Given the description of an element on the screen output the (x, y) to click on. 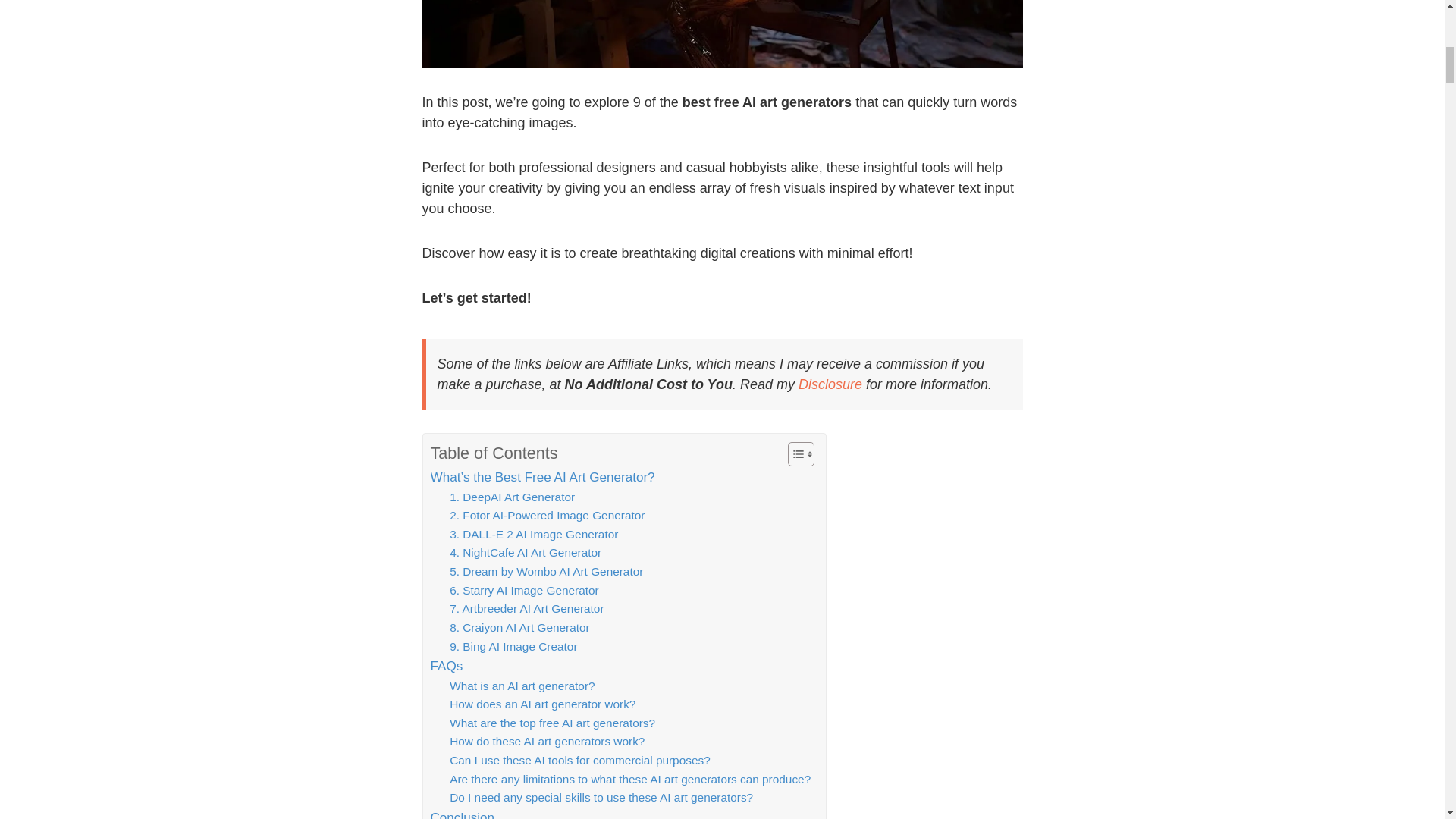
2. Fotor AI-Powered Image Generator (547, 515)
8. Craiyon AI Art Generator (519, 628)
6. Starry AI Image Generator (523, 590)
3. DALL-E 2 AI Image Generator (533, 534)
What is an AI art generator? (521, 686)
7. Artbreeder AI Art Generator (526, 609)
1. DeepAI Art Generator (512, 497)
How does an AI art generator work? (541, 704)
9. Bing AI Image Creator (512, 647)
FAQs (446, 666)
4. NightCafe AI Art Generator (525, 552)
